Given the description of an element on the screen output the (x, y) to click on. 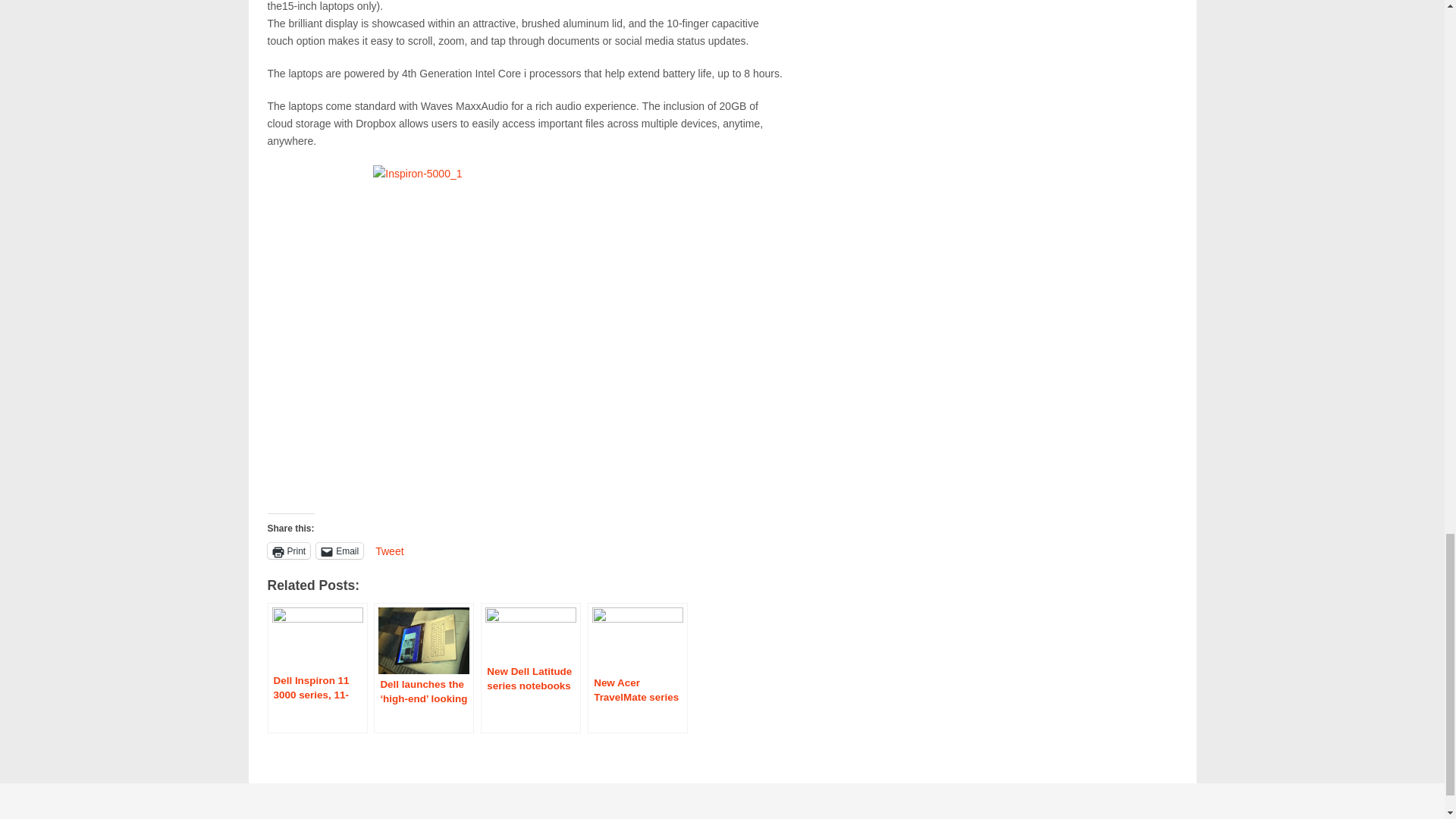
Email (338, 550)
Print (288, 550)
Tweet (389, 549)
Click to email a link to a friend (338, 550)
Click to print (288, 550)
